Given the description of an element on the screen output the (x, y) to click on. 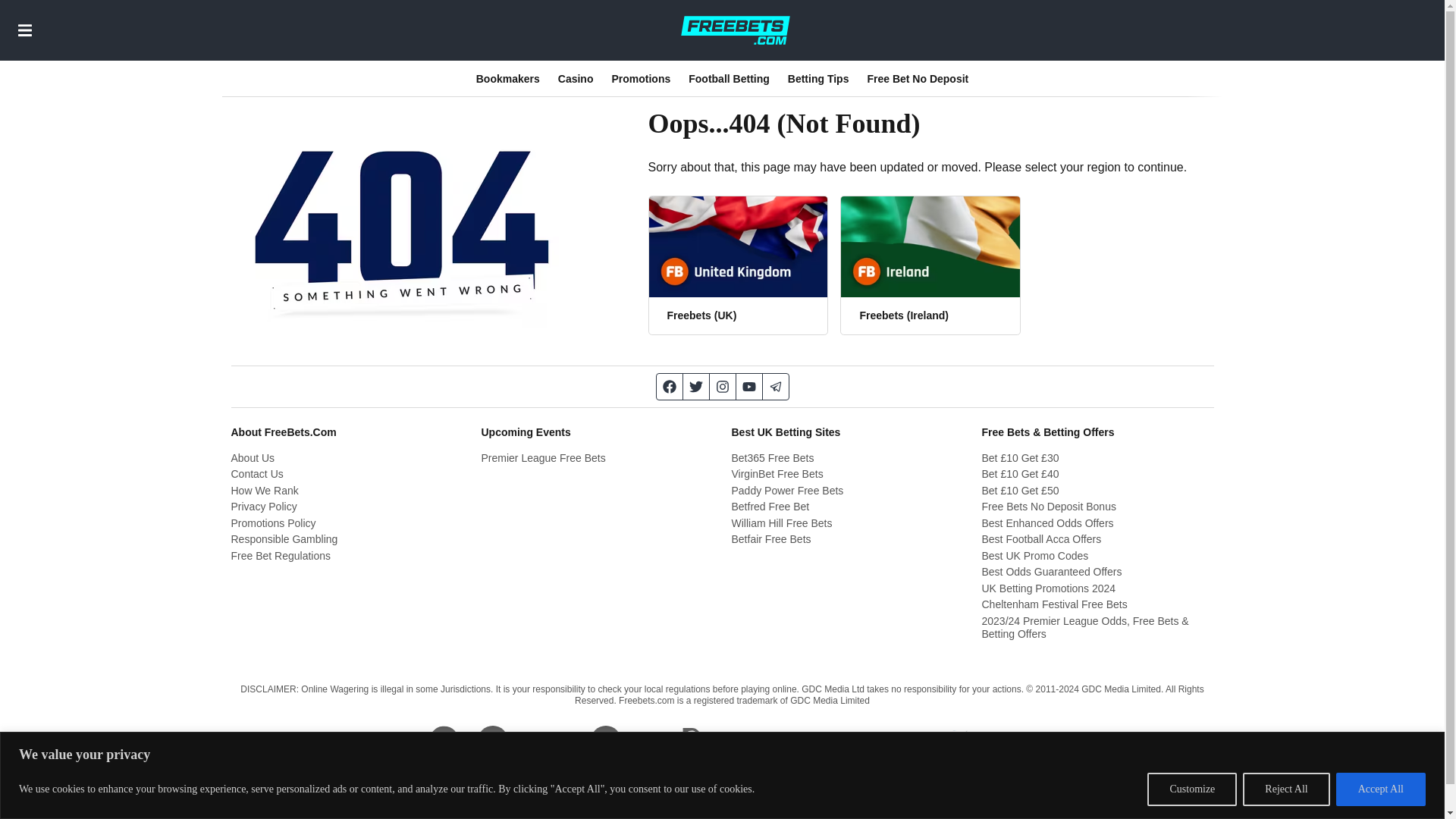
Accept All (1380, 788)
Customize (1191, 788)
Youtube page (748, 386)
Facebook page (669, 386)
FreeBets Logo (735, 29)
Reject All (1286, 788)
Instagram page (723, 386)
Telegram (775, 386)
Twitter feed (695, 386)
